Given the description of an element on the screen output the (x, y) to click on. 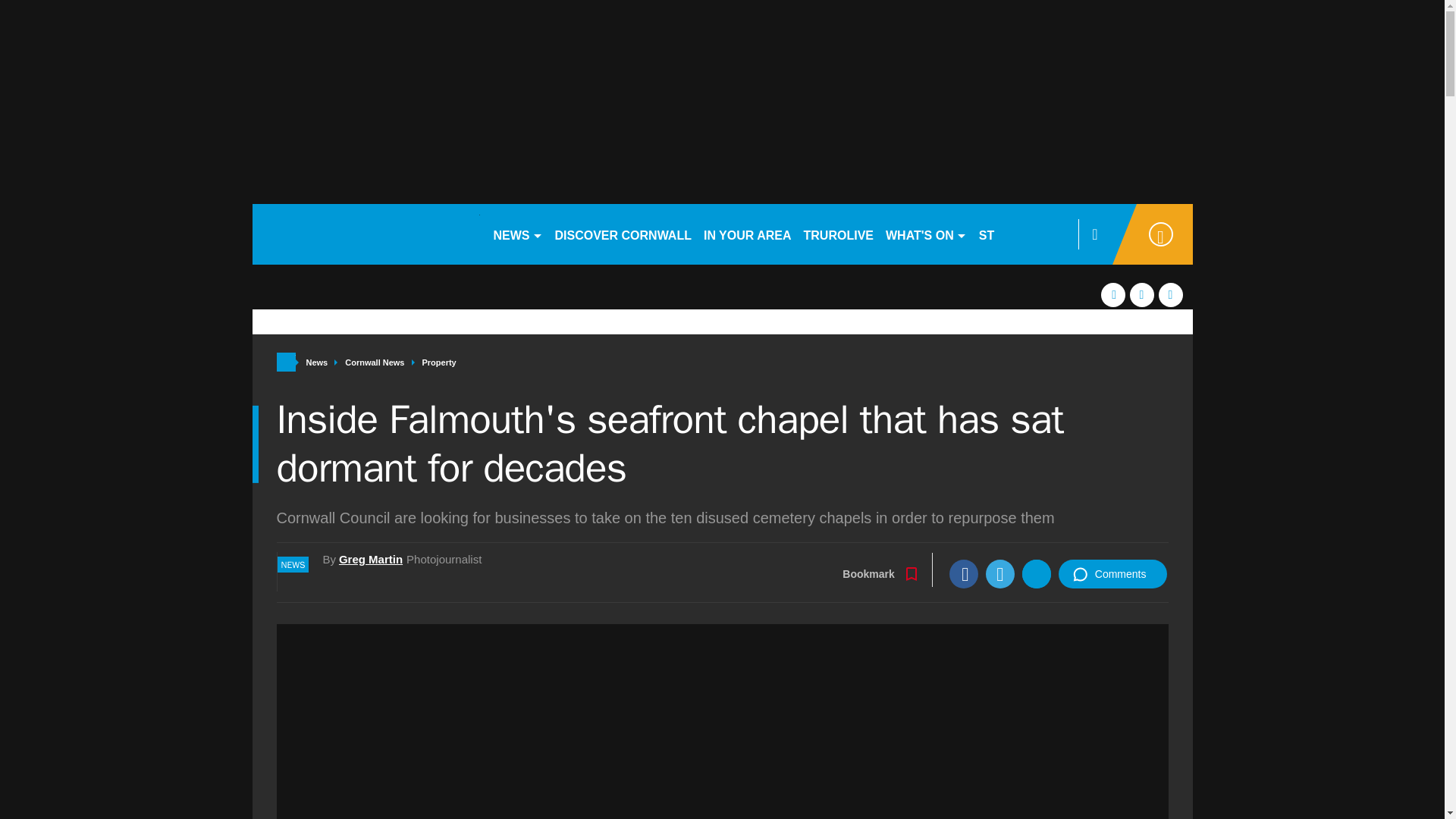
DISCOVER CORNWALL (622, 233)
facebook (1112, 294)
Comments (1112, 573)
instagram (1170, 294)
twitter (1141, 294)
TRUROLIVE (838, 233)
WHAT'S ON (925, 233)
IN YOUR AREA (747, 233)
ST AUSTELL (1015, 233)
cornwalllive (365, 233)
Facebook (963, 573)
Twitter (999, 573)
NEWS (517, 233)
